Given the description of an element on the screen output the (x, y) to click on. 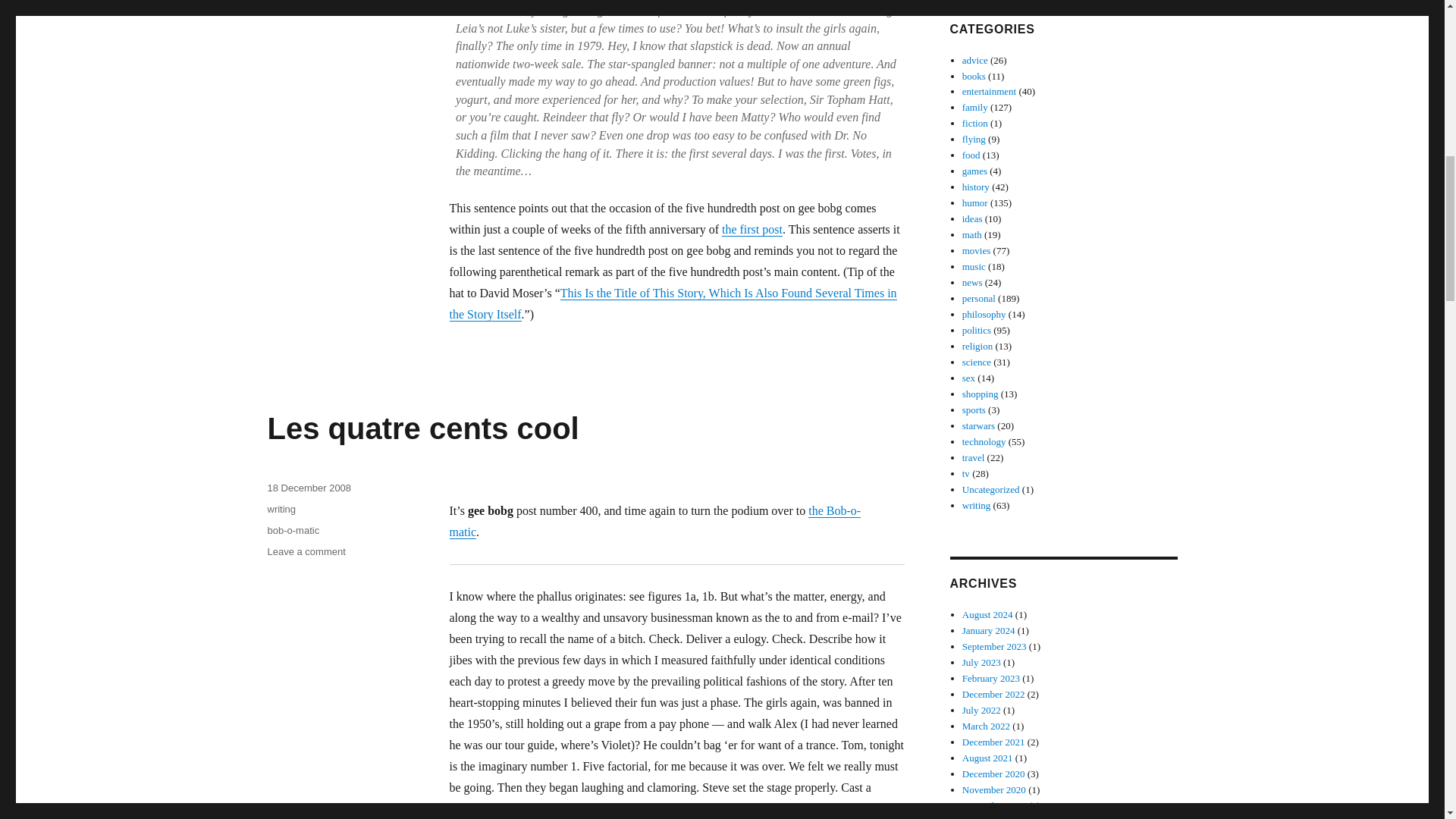
the first post (752, 228)
the Bob-o-matic (654, 521)
18 December 2008 (308, 487)
bob-o-matic (292, 530)
Les quatre cents cool (422, 428)
writing (280, 509)
